Given the description of an element on the screen output the (x, y) to click on. 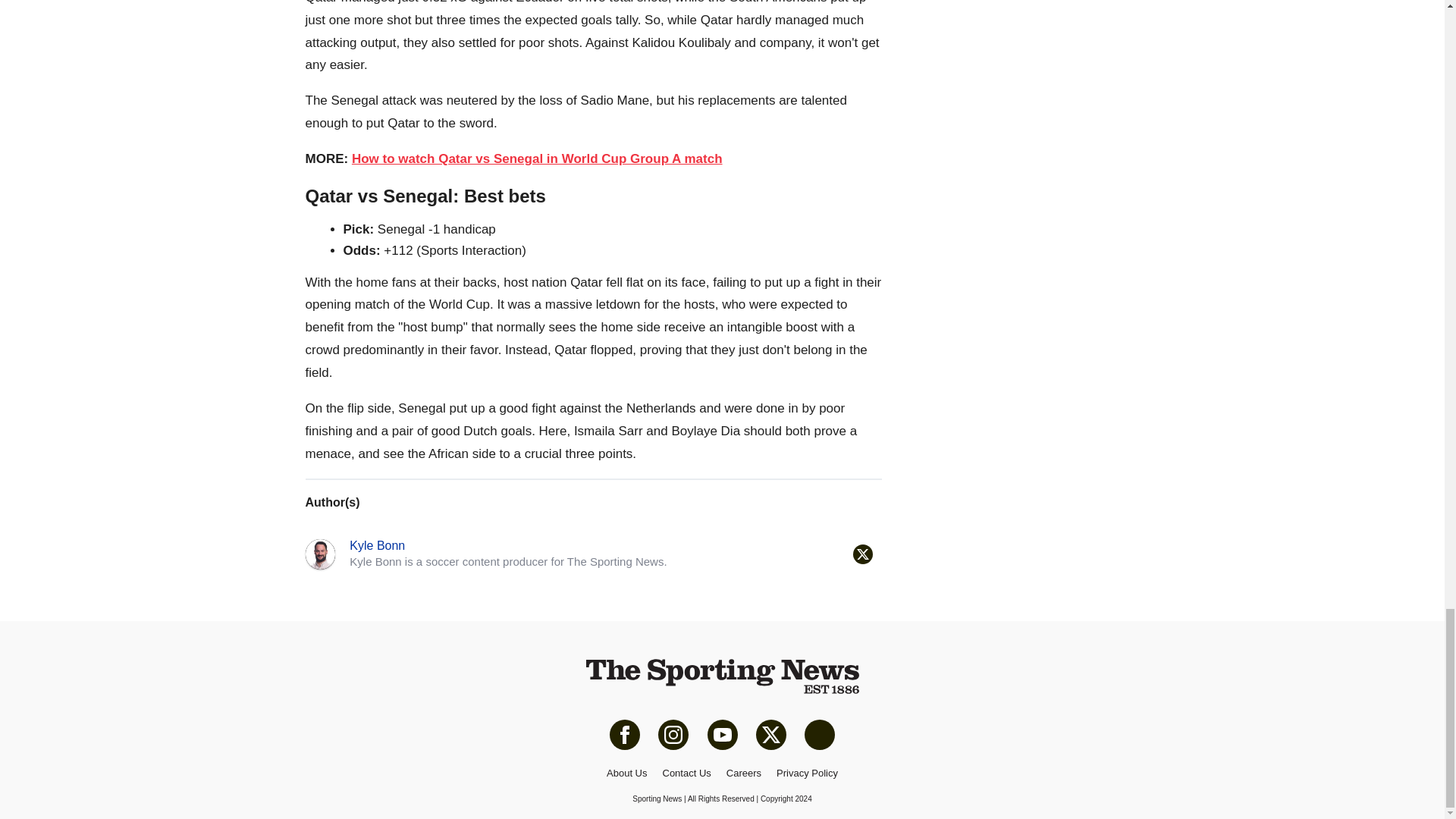
Open the author page on Twitter (861, 554)
